Given the description of an element on the screen output the (x, y) to click on. 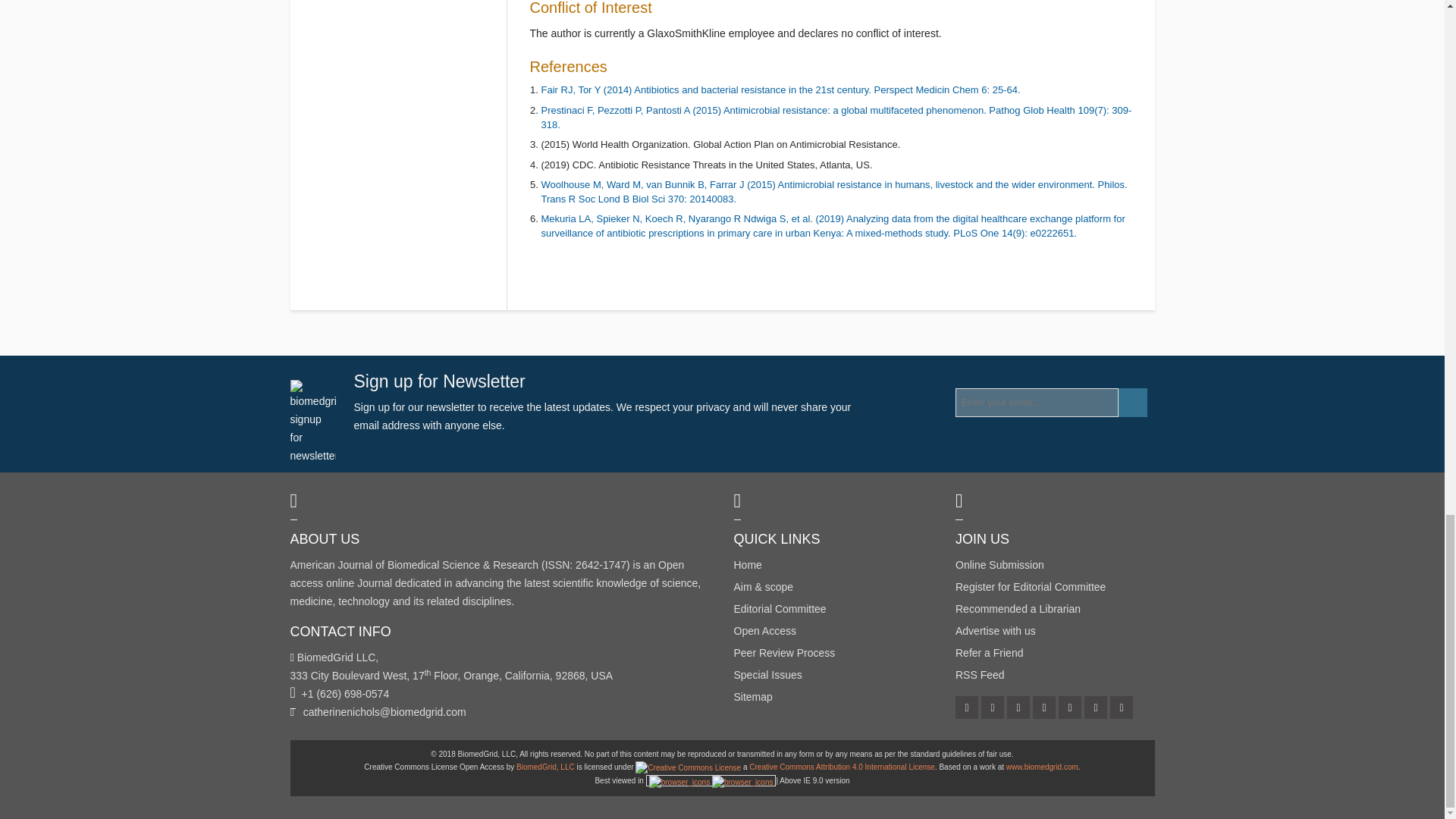
Twitter (967, 708)
Mendeley (1045, 708)
Blogspot (1019, 708)
Pinterest (993, 708)
reddit (1122, 708)
Academia (1096, 708)
Mendeley (1070, 708)
